Given the description of an element on the screen output the (x, y) to click on. 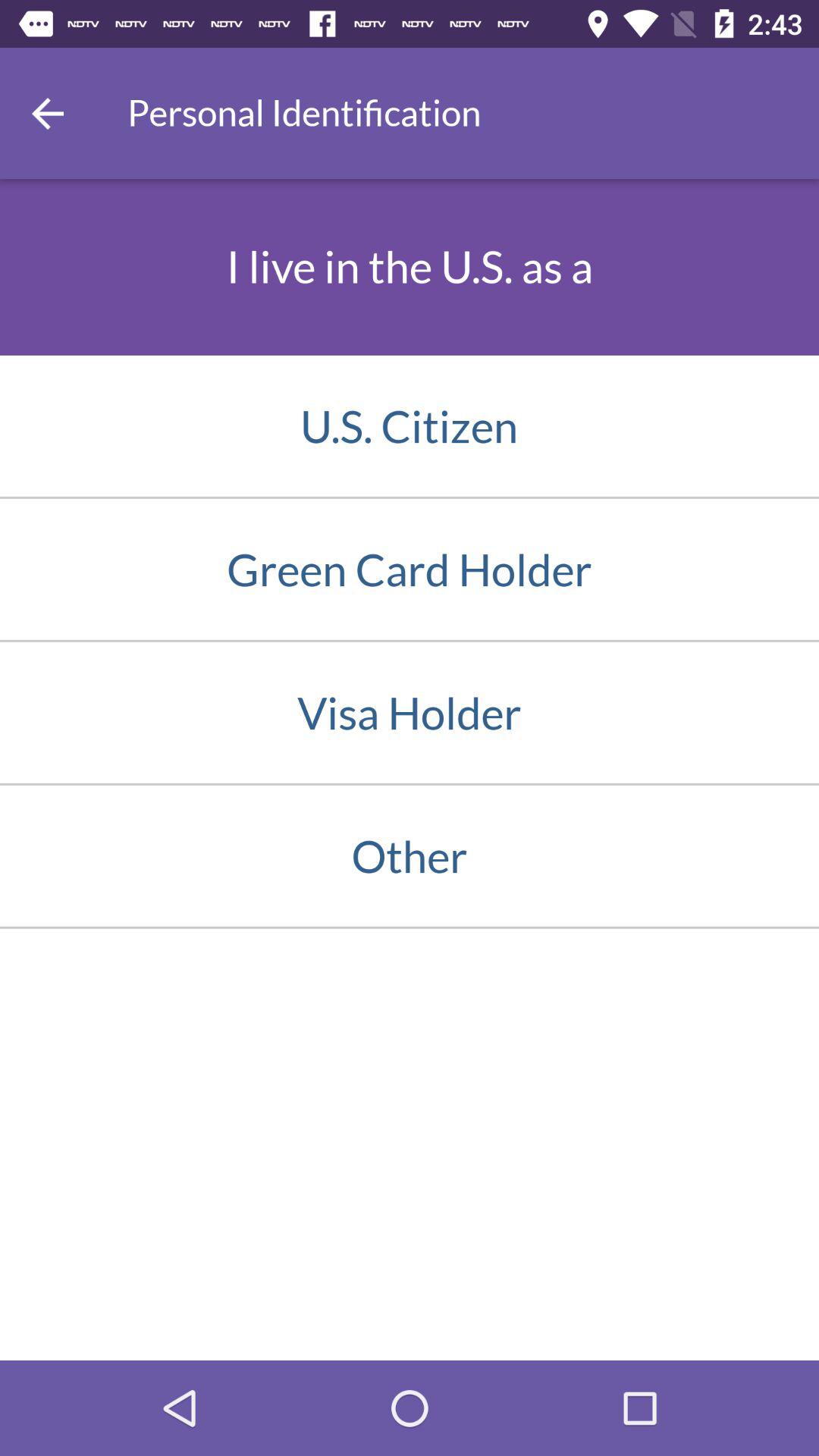
select the icon at the top left corner (47, 113)
